Given the description of an element on the screen output the (x, y) to click on. 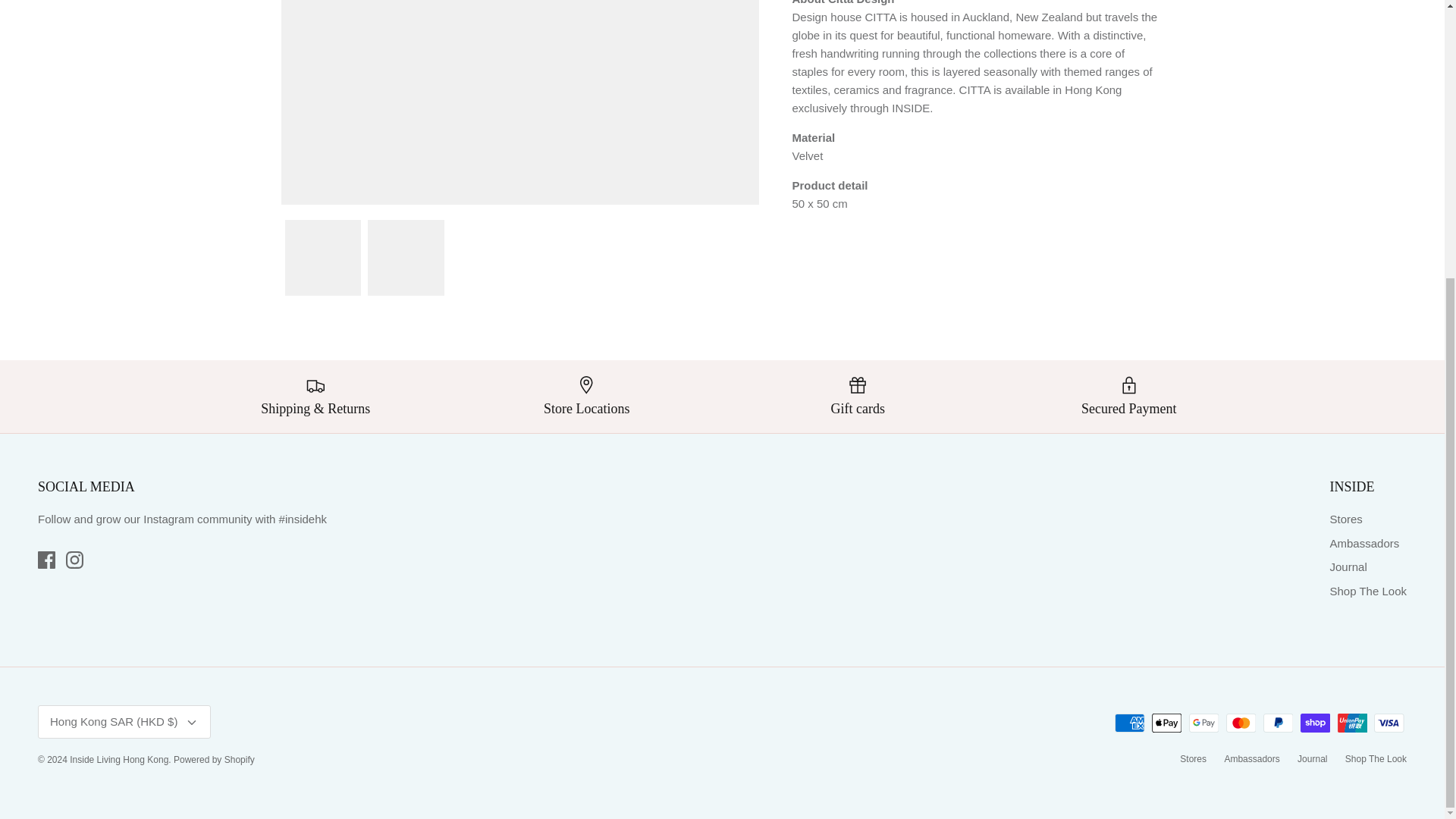
Shop Pay (1315, 722)
Apple Pay (1166, 722)
Mastercard (1240, 722)
Facebook (46, 559)
Google Pay (1203, 722)
Visa (1388, 722)
Instagram (73, 559)
PayPal (1277, 722)
Union Pay (1352, 722)
American Express (1129, 722)
